Given the description of an element on the screen output the (x, y) to click on. 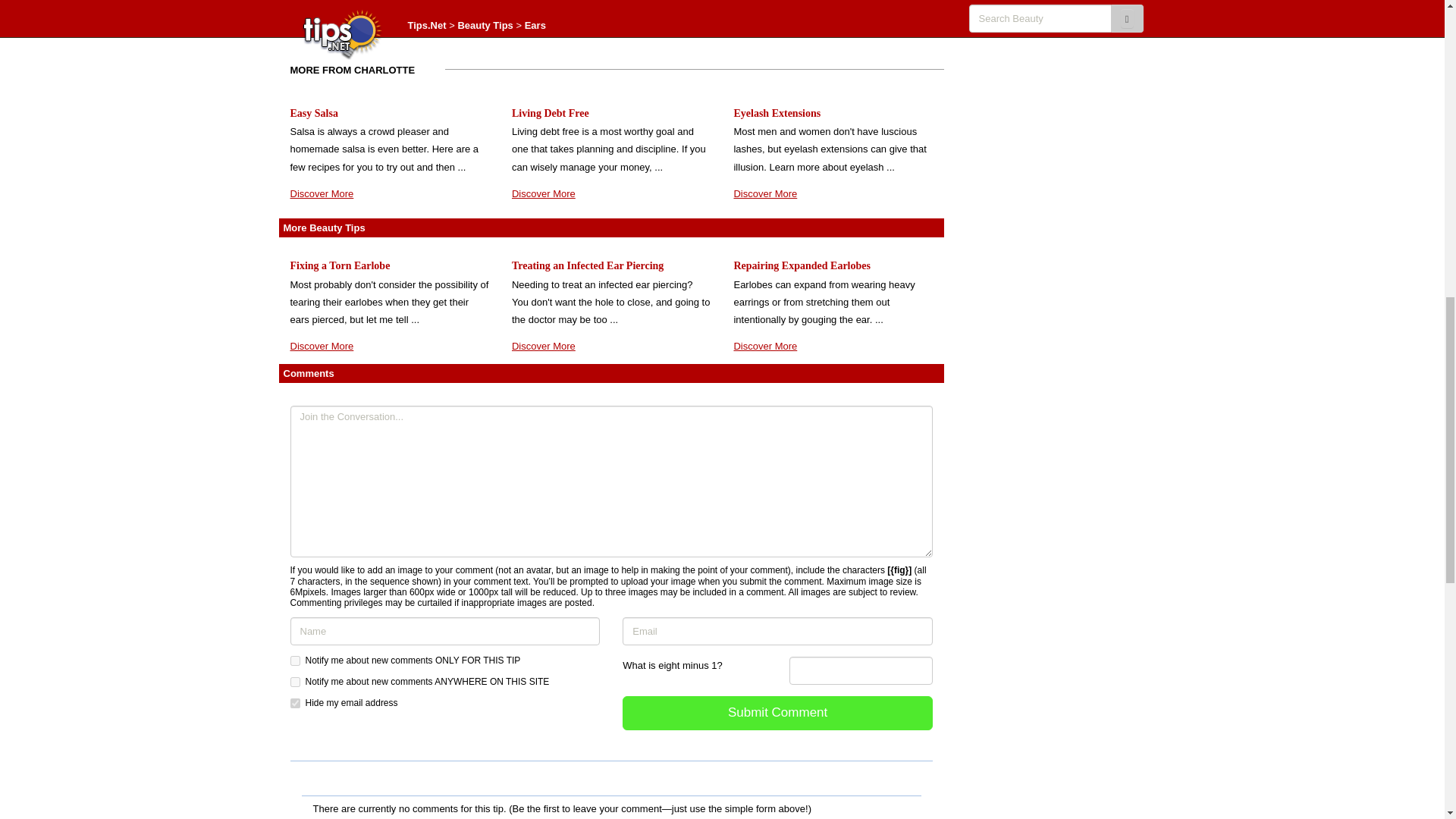
Discover More (764, 346)
Submit Comment (778, 713)
option2 (294, 682)
Discover More (764, 193)
option1 (294, 660)
Submit Comment (778, 713)
Discover More (543, 346)
Discover More (321, 346)
option3 (294, 703)
Discover More (543, 193)
Discover More (321, 193)
